Given the description of an element on the screen output the (x, y) to click on. 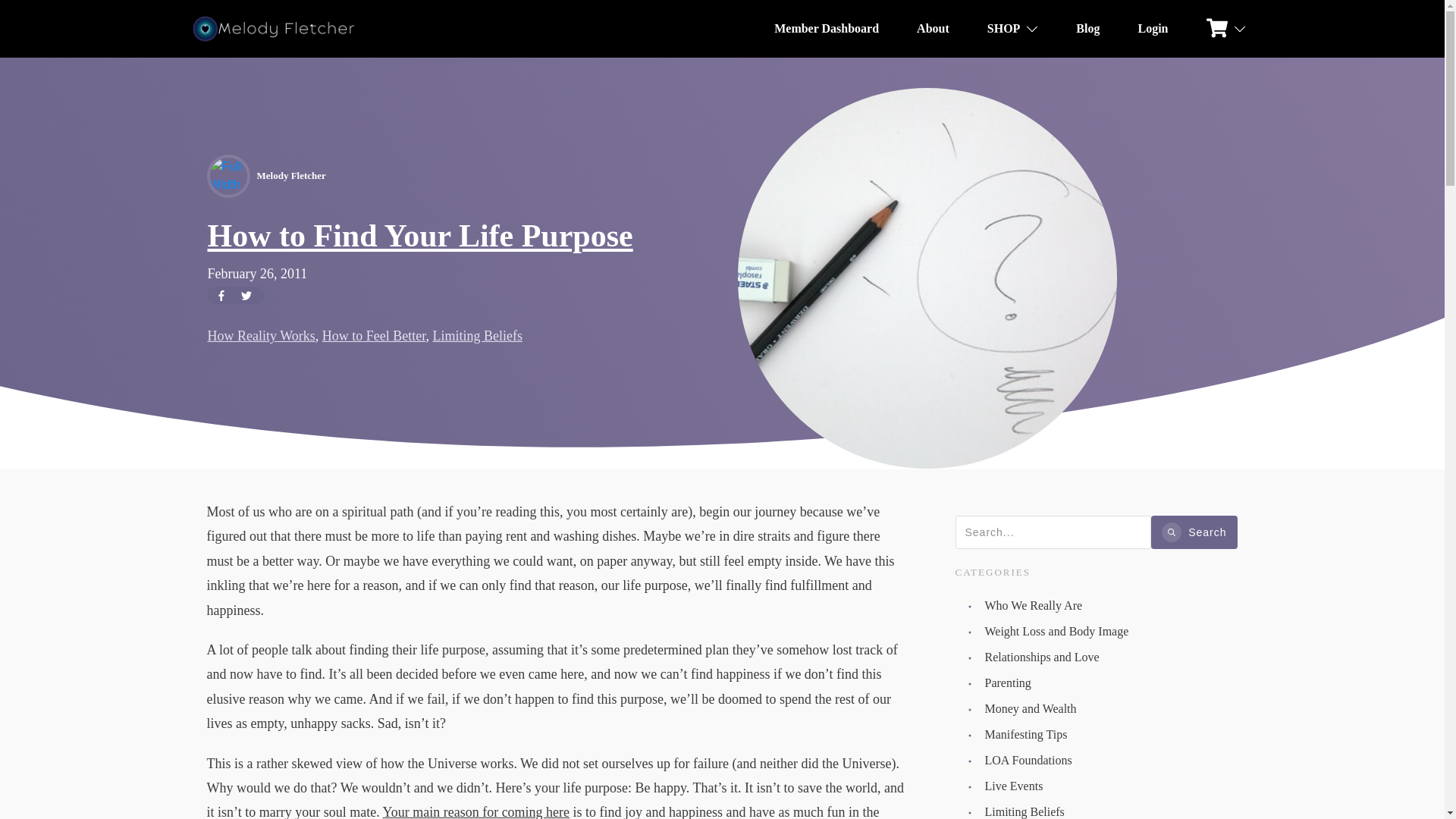
How to Find Your Life Purpose (420, 235)
Limiting Beliefs (477, 335)
How Reality Works (261, 335)
How to Feel Better (373, 335)
How to Feel Better (373, 335)
SHOP (1013, 28)
Your main reason for coming here (475, 811)
Limiting Beliefs (477, 335)
How Reality Works (261, 335)
Login (1152, 28)
Member Dashboard (826, 28)
Blog (1087, 28)
About (933, 28)
Full Width Featured Image With Sidebar (227, 176)
How to Find Your Life Purpose (420, 235)
